Given the description of an element on the screen output the (x, y) to click on. 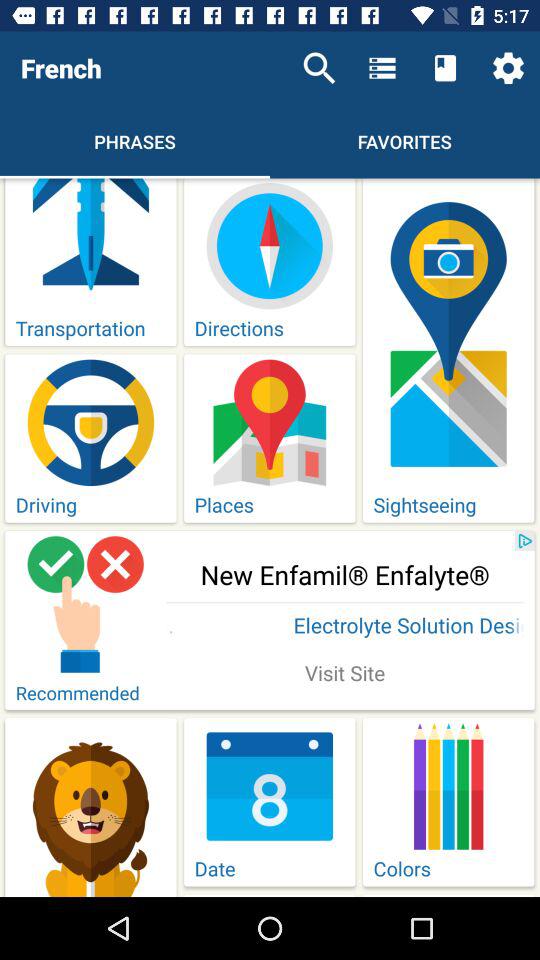
select the electrolyte solution designed item (345, 627)
